Given the description of an element on the screen output the (x, y) to click on. 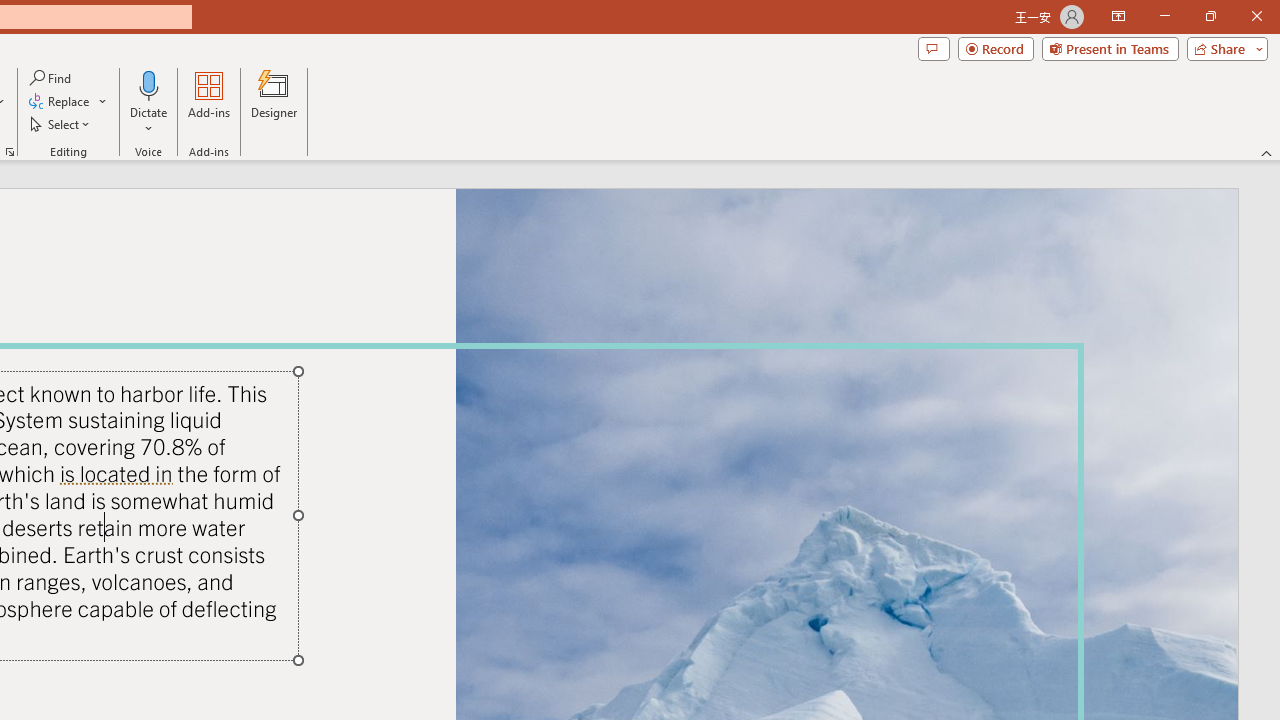
New Comment (361, 483)
